Given the description of an element on the screen output the (x, y) to click on. 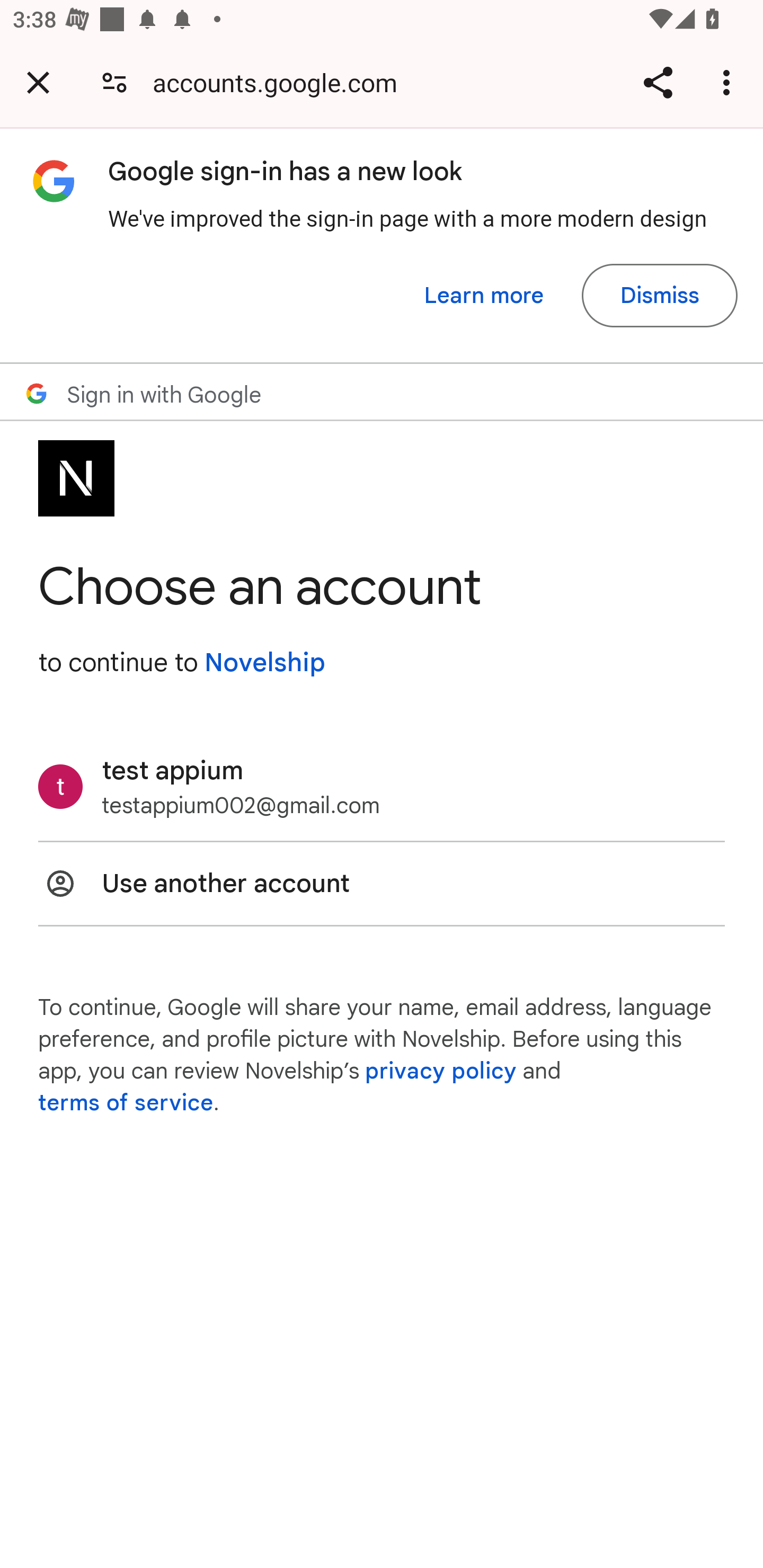
Close tab (38, 82)
Share (657, 82)
Customize and control Google Chrome (729, 82)
Connection is secure (114, 81)
accounts.google.com (281, 81)
Learn more (483, 295)
Dismiss (659, 295)
Novelship (264, 662)
Use another account (381, 883)
privacy policy (440, 1070)
terms of service (126, 1102)
